Given the description of an element on the screen output the (x, y) to click on. 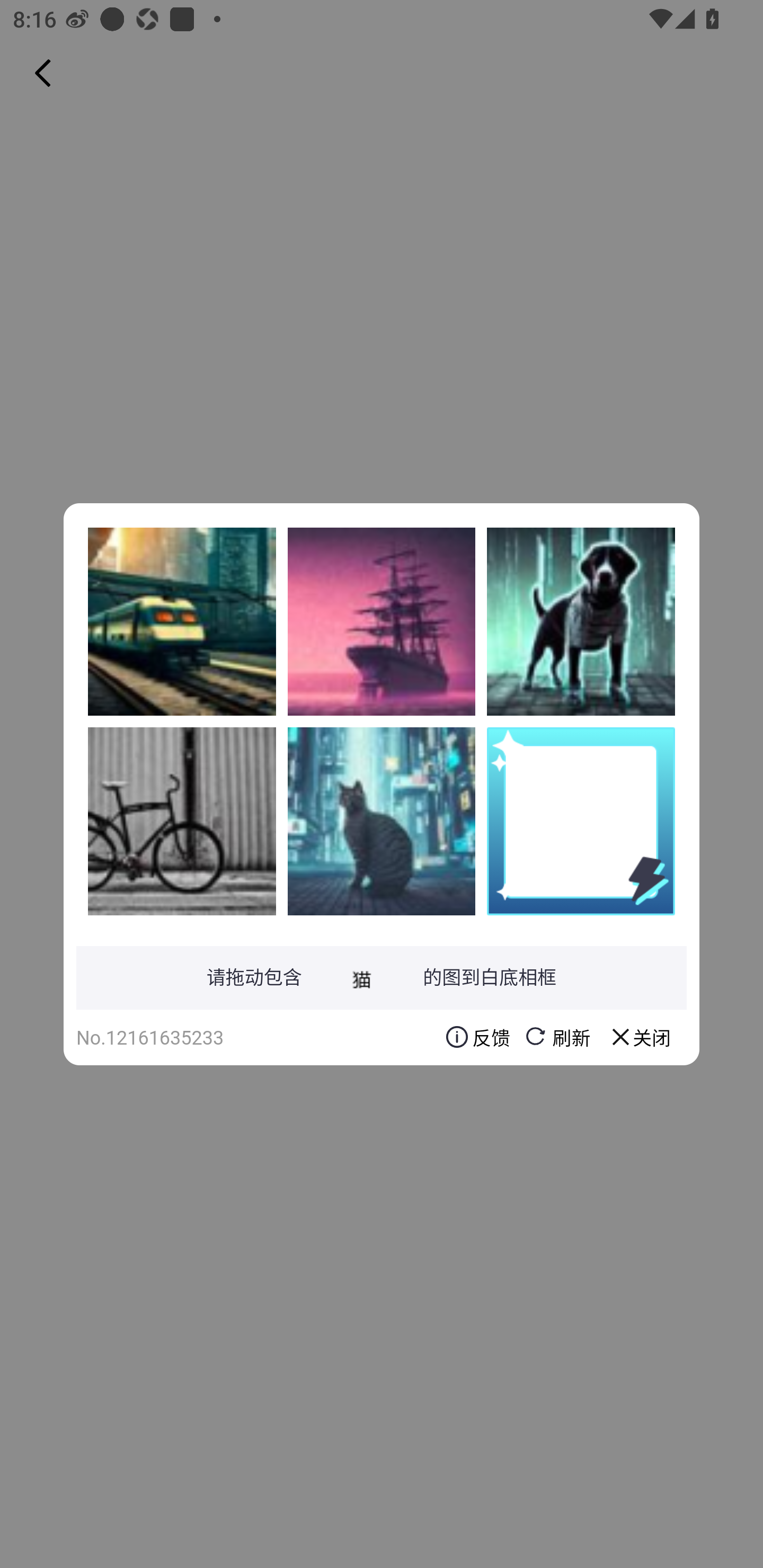
bgtxTO7Do5D (580, 621)
